Given the description of an element on the screen output the (x, y) to click on. 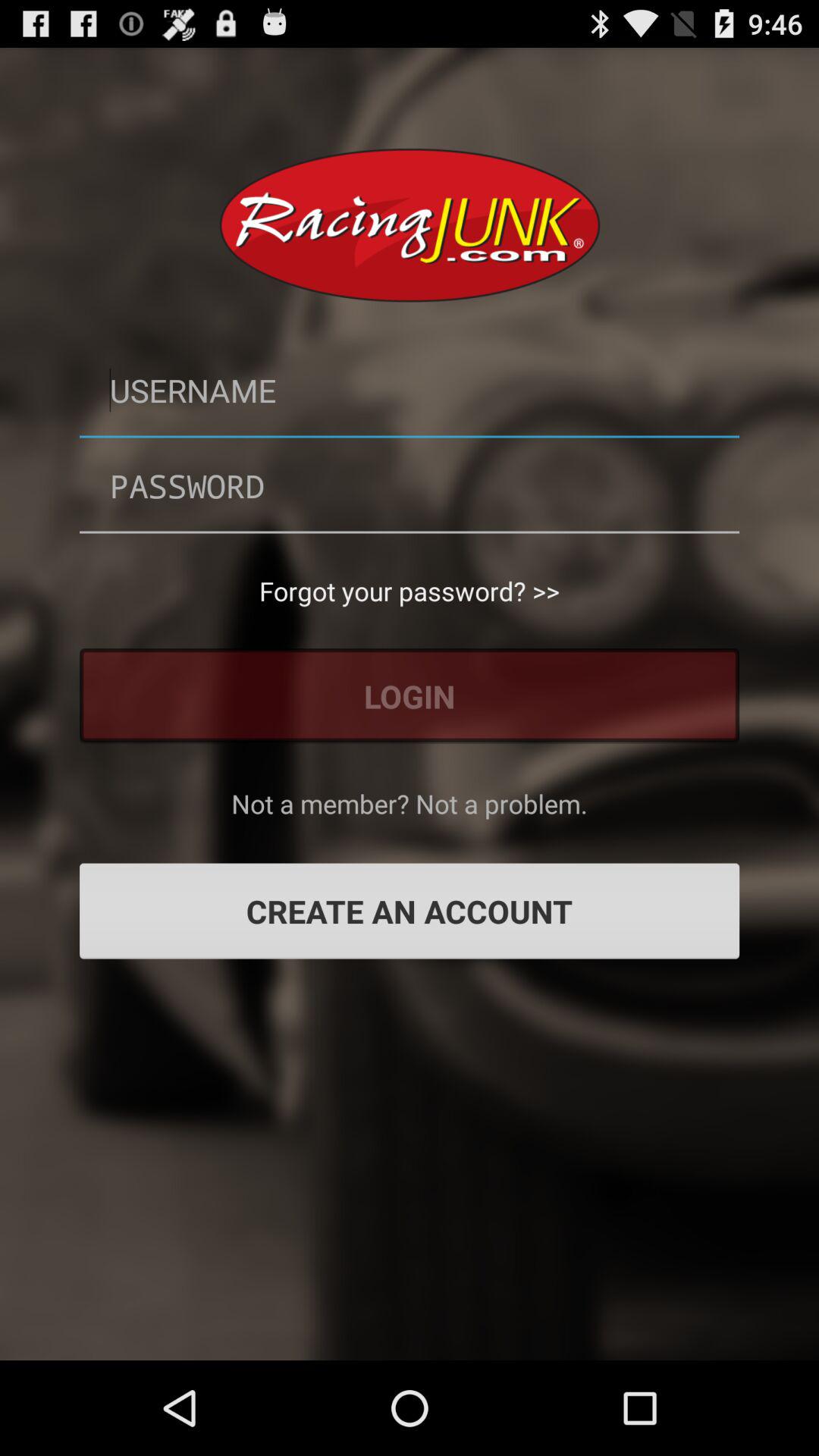
enter username (409, 389)
